Given the description of an element on the screen output the (x, y) to click on. 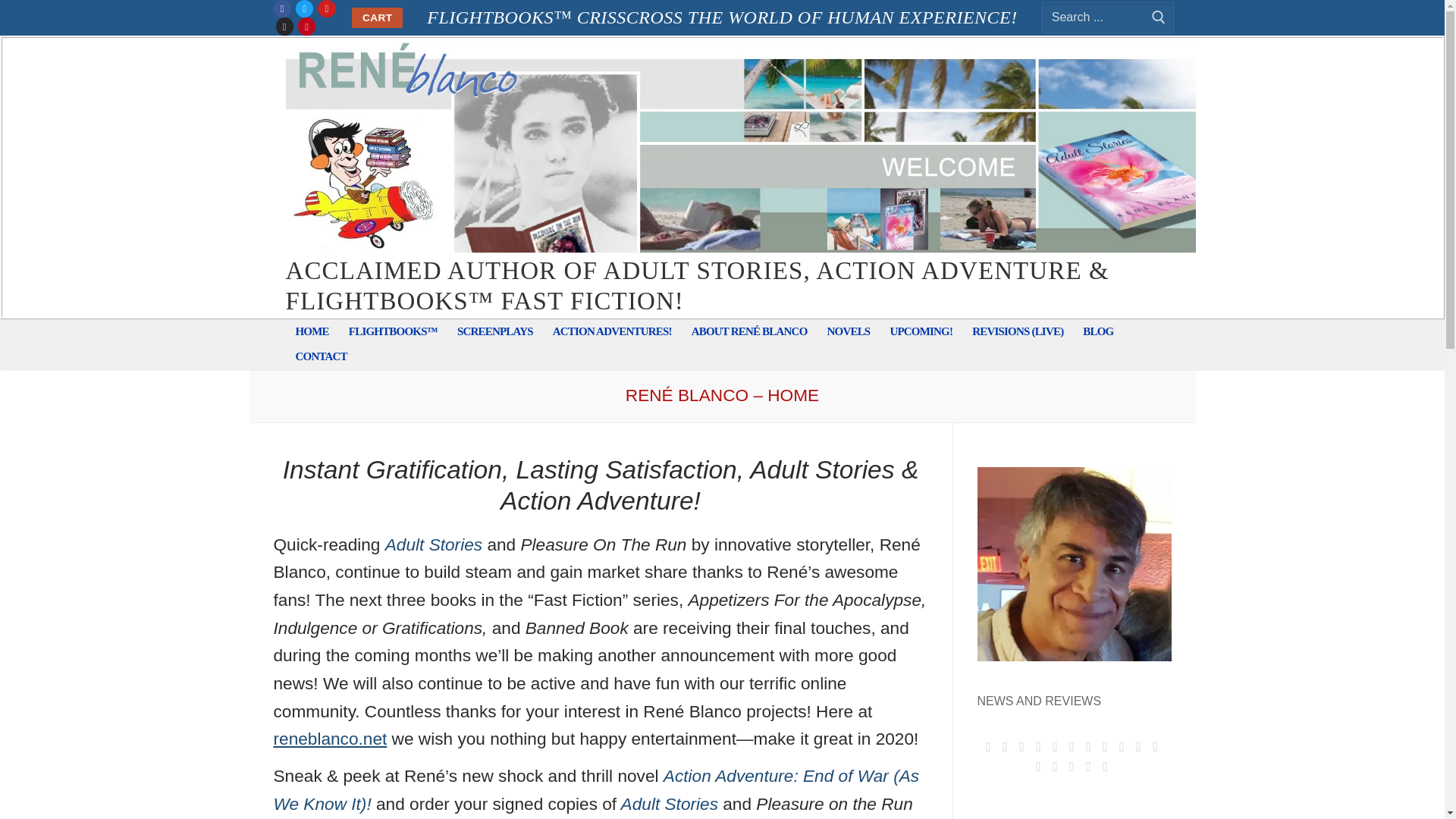
Search for: (1107, 17)
HOME (311, 330)
ACTION ADVENTURES! (612, 330)
NOVELS (848, 330)
SCREENPLAYS (494, 330)
Pinterest (306, 26)
Facebook (282, 8)
Twitter (303, 8)
CART (377, 17)
Youtube (326, 8)
